Given the description of an element on the screen output the (x, y) to click on. 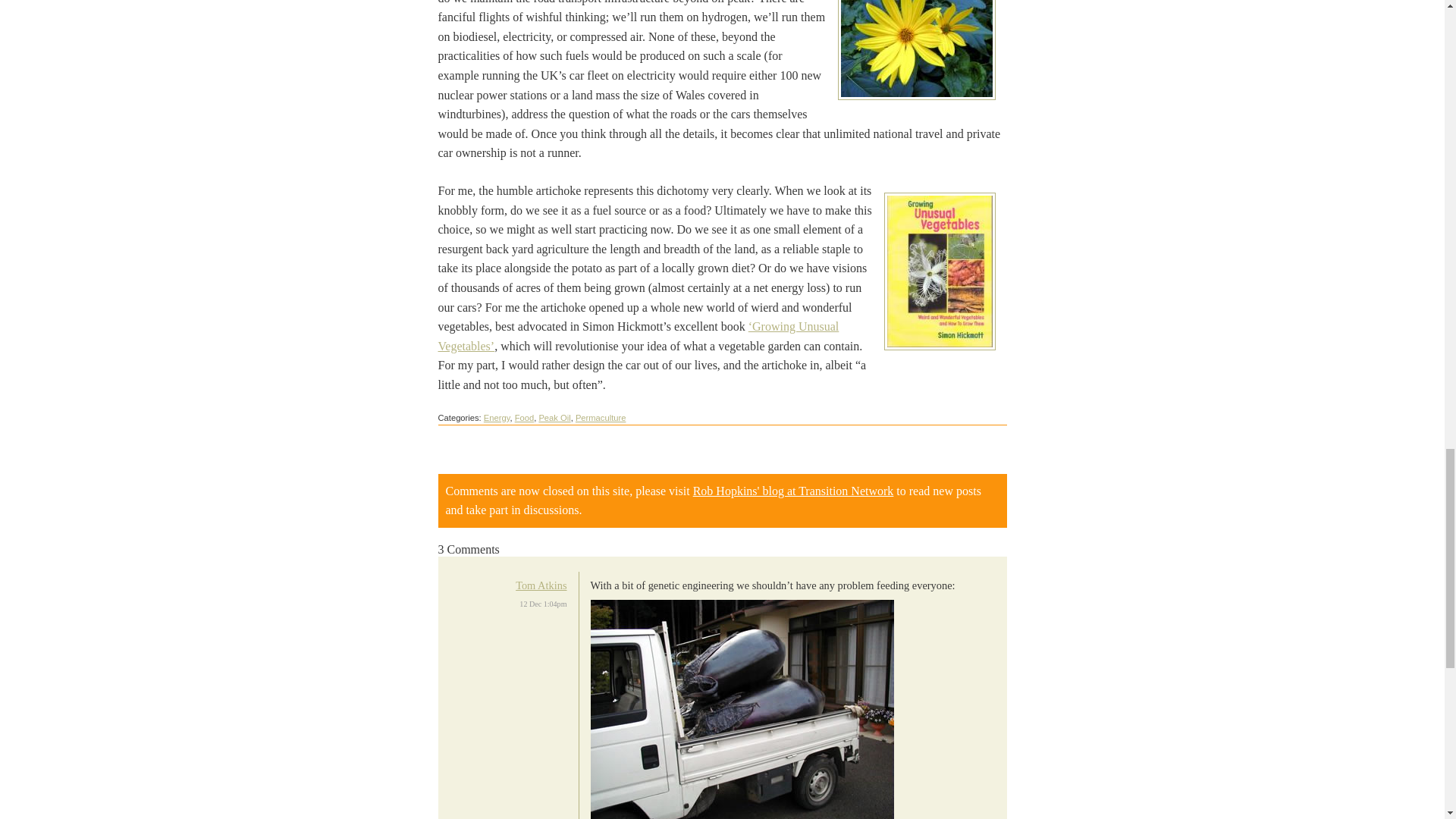
Rob Hopkins' blog at Transition Network (793, 490)
Tom Atkins (540, 585)
Energy (497, 417)
Food (524, 417)
Peak Oil (554, 417)
Permaculture (600, 417)
